Given the description of an element on the screen output the (x, y) to click on. 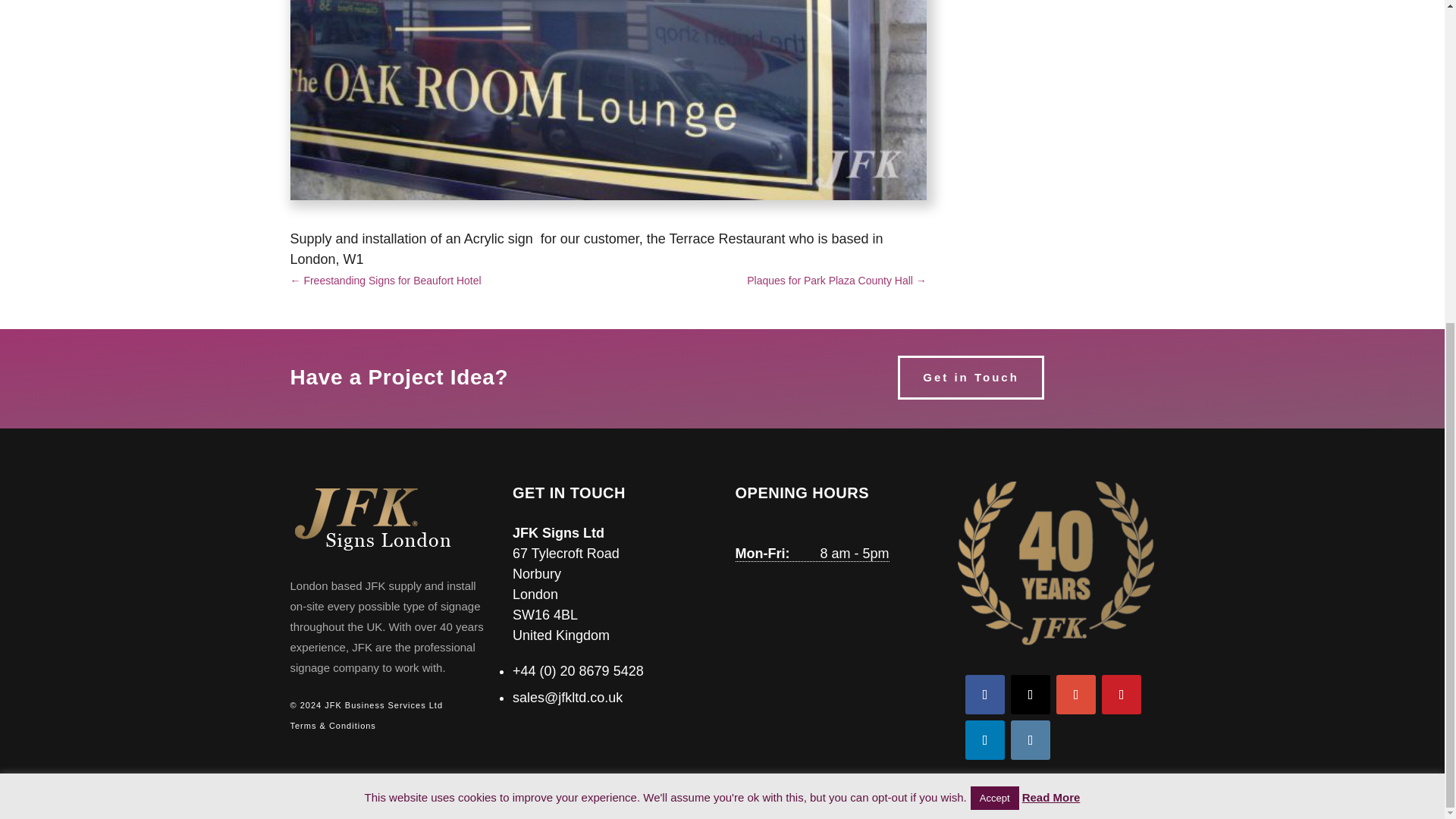
Follow on Facebook (984, 694)
Follow on Twitter (1029, 694)
Follow on Pinterest (1121, 694)
